Given the description of an element on the screen output the (x, y) to click on. 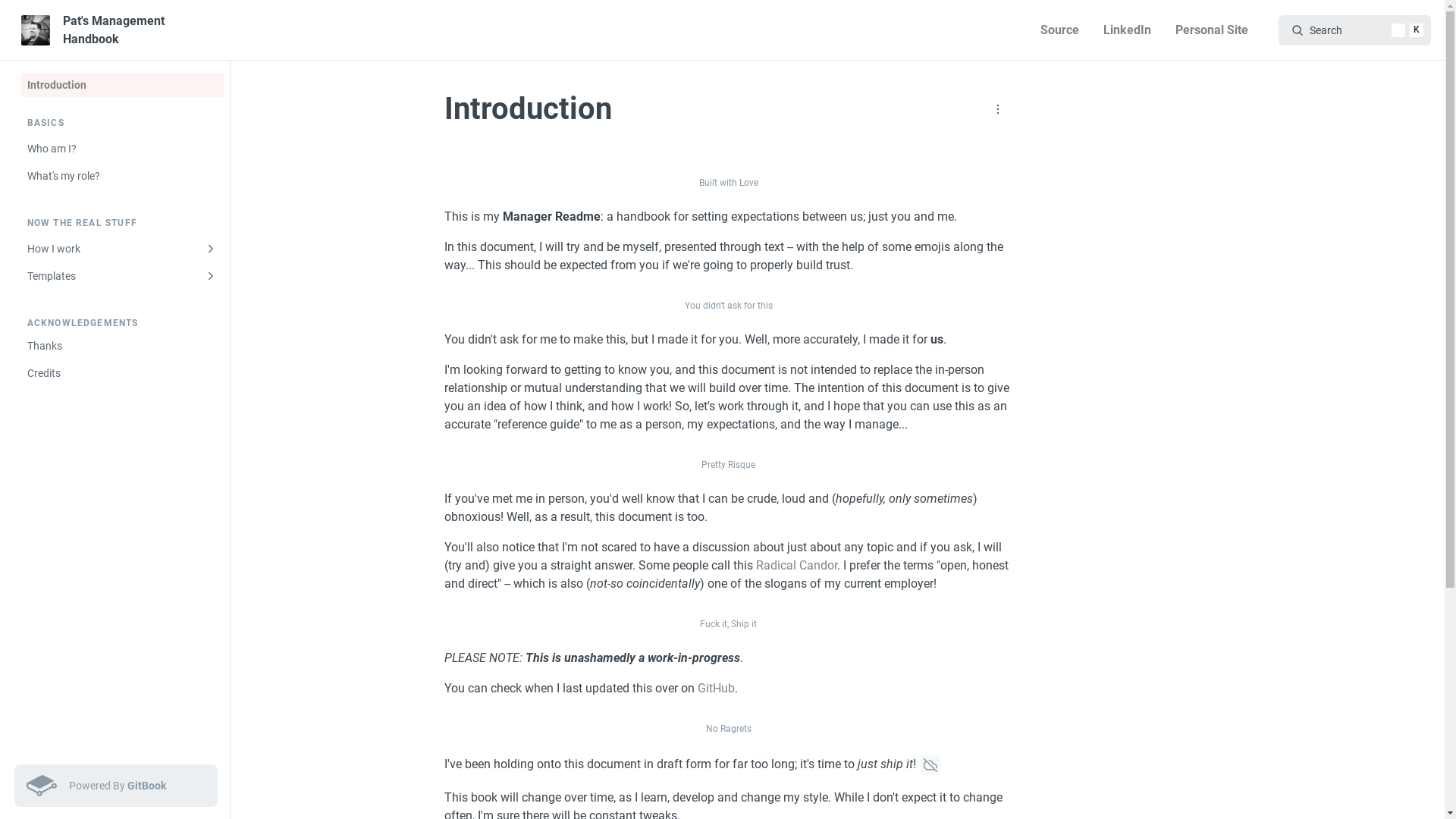
Pat's Management Handbook Element type: text (118, 30)
Radical Candor Element type: text (795, 565)
Powered By GitBook Element type: text (114, 785)
Thanks Element type: text (120, 345)
Credits Element type: text (120, 372)
Who am I? Element type: text (120, 148)
Templates Element type: text (120, 275)
LinkedIn Element type: text (1126, 30)
GitHub Element type: text (715, 687)
Source Element type: text (1059, 30)
Introduction Element type: text (120, 84)
How I work Element type: text (120, 248)
Personal Site Element type: text (1211, 30)
What's my role? Element type: text (120, 175)
